Given the description of an element on the screen output the (x, y) to click on. 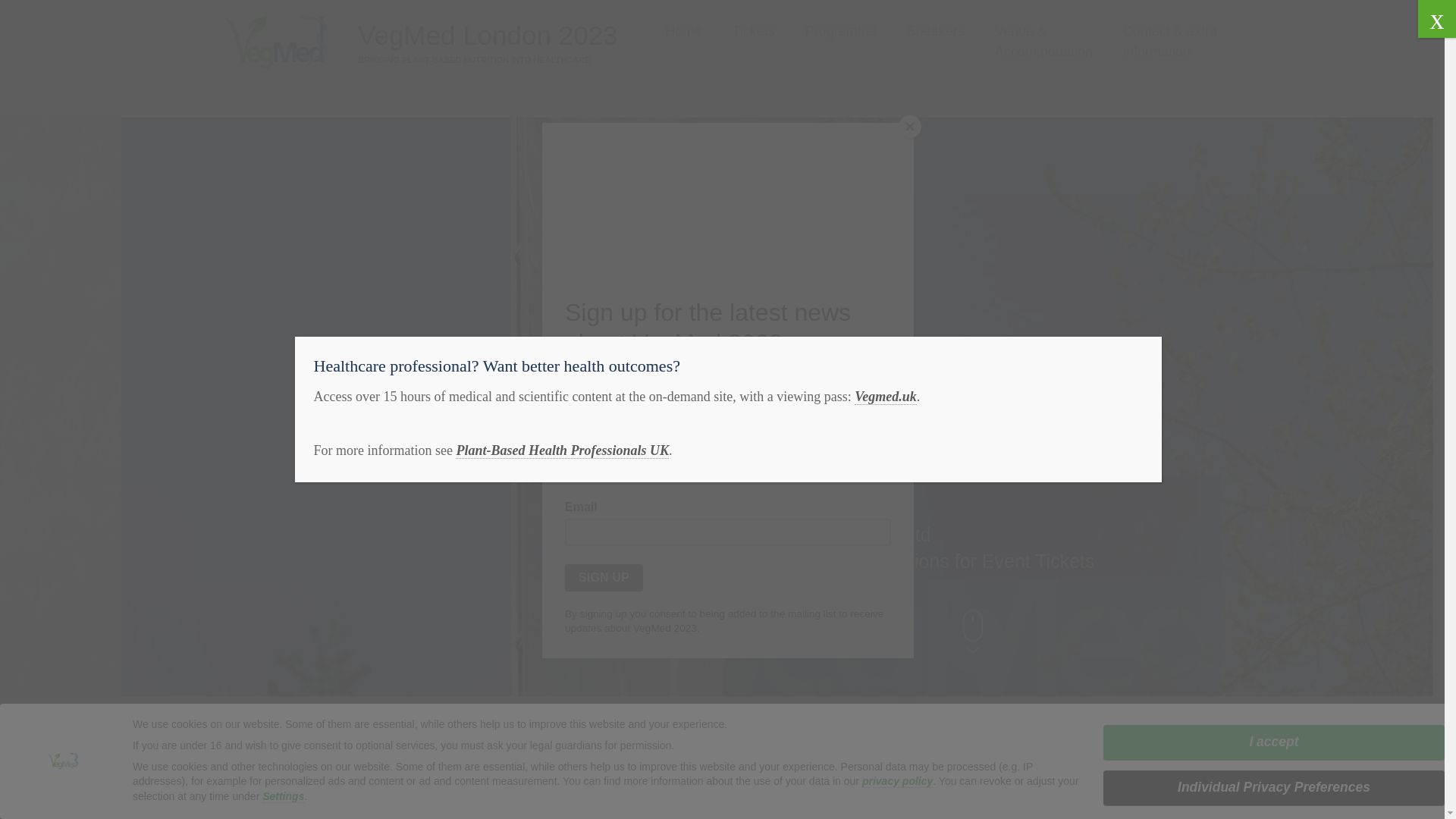
Programme (840, 31)
Tickets (753, 31)
Home (683, 31)
Plant-Based Health Professionals UK (561, 450)
privacy policy (897, 780)
Vegmed.uk (885, 396)
Speakers (935, 31)
